Given the description of an element on the screen output the (x, y) to click on. 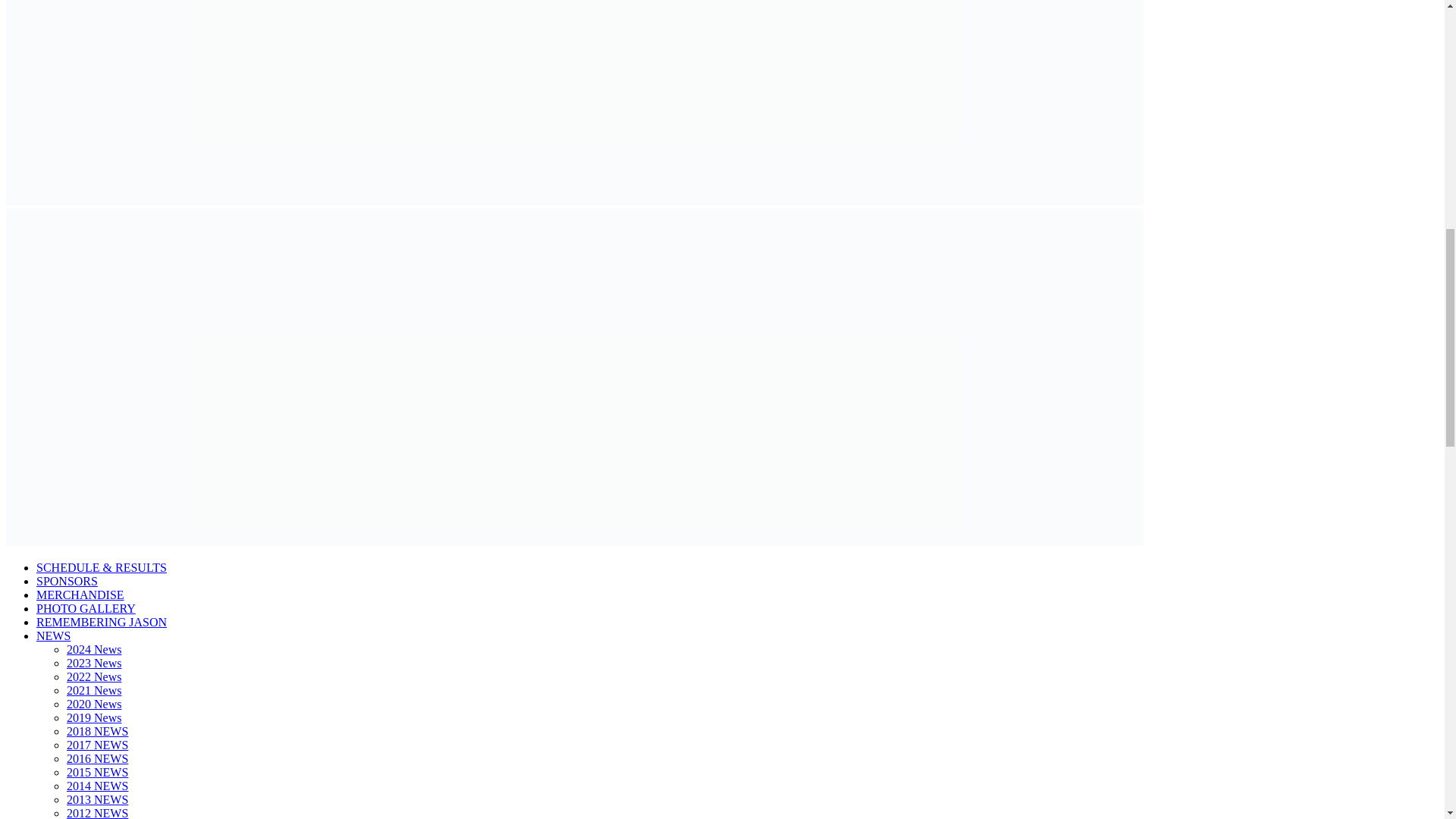
2014 NEWS (97, 785)
2021 News (93, 689)
REMEMBERING JASON (101, 621)
2013 NEWS (97, 799)
2023 News (93, 662)
PHOTO GALLERY (85, 608)
2022 News (93, 676)
2024 News (93, 649)
MERCHANDISE (79, 594)
SPONSORS (66, 581)
2017 NEWS (97, 744)
2016 NEWS (97, 758)
2012 NEWS (97, 812)
2018 NEWS (97, 730)
NEWS (52, 635)
